Given the description of an element on the screen output the (x, y) to click on. 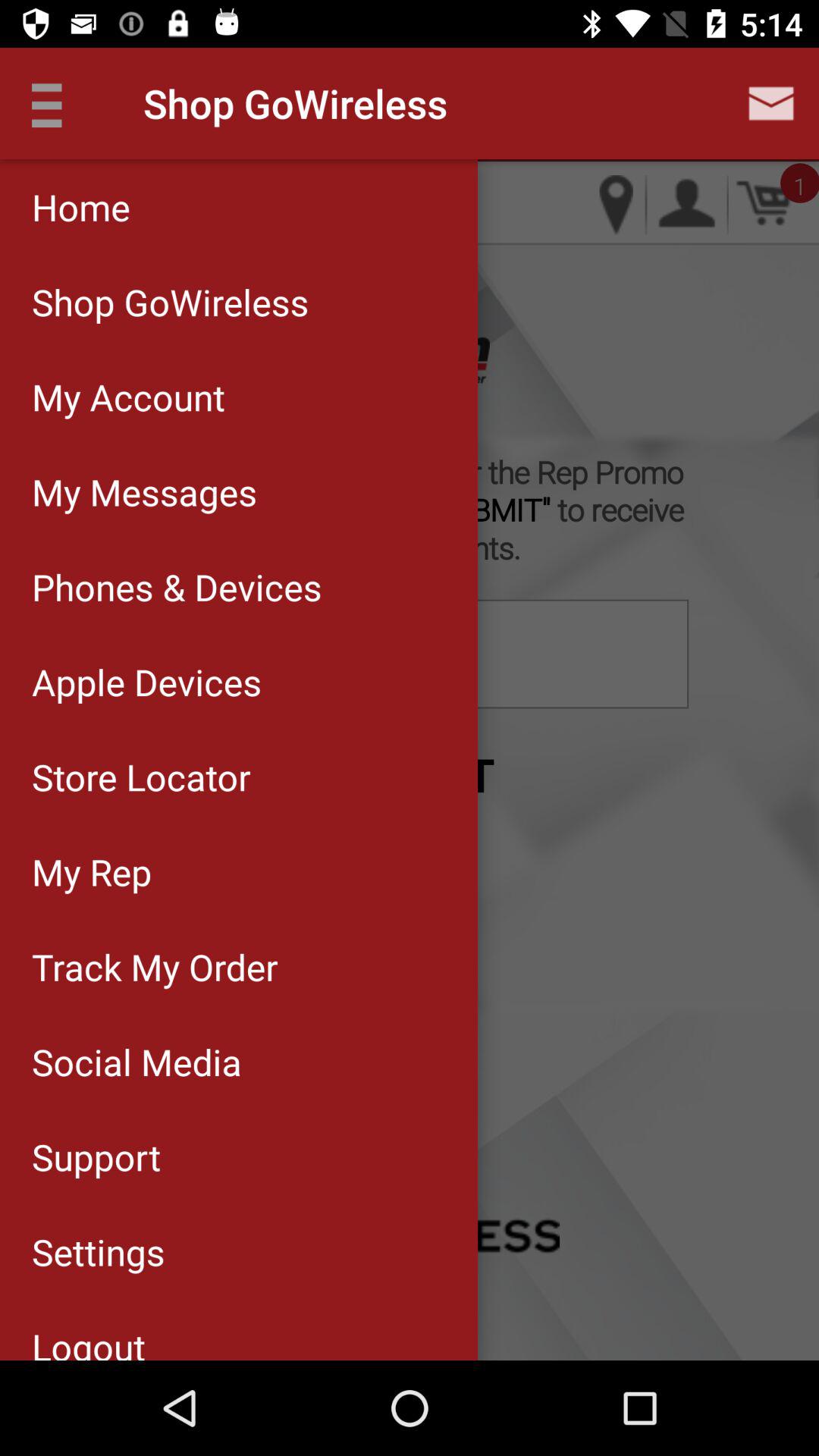
open the store locator item (238, 776)
